Given the description of an element on the screen output the (x, y) to click on. 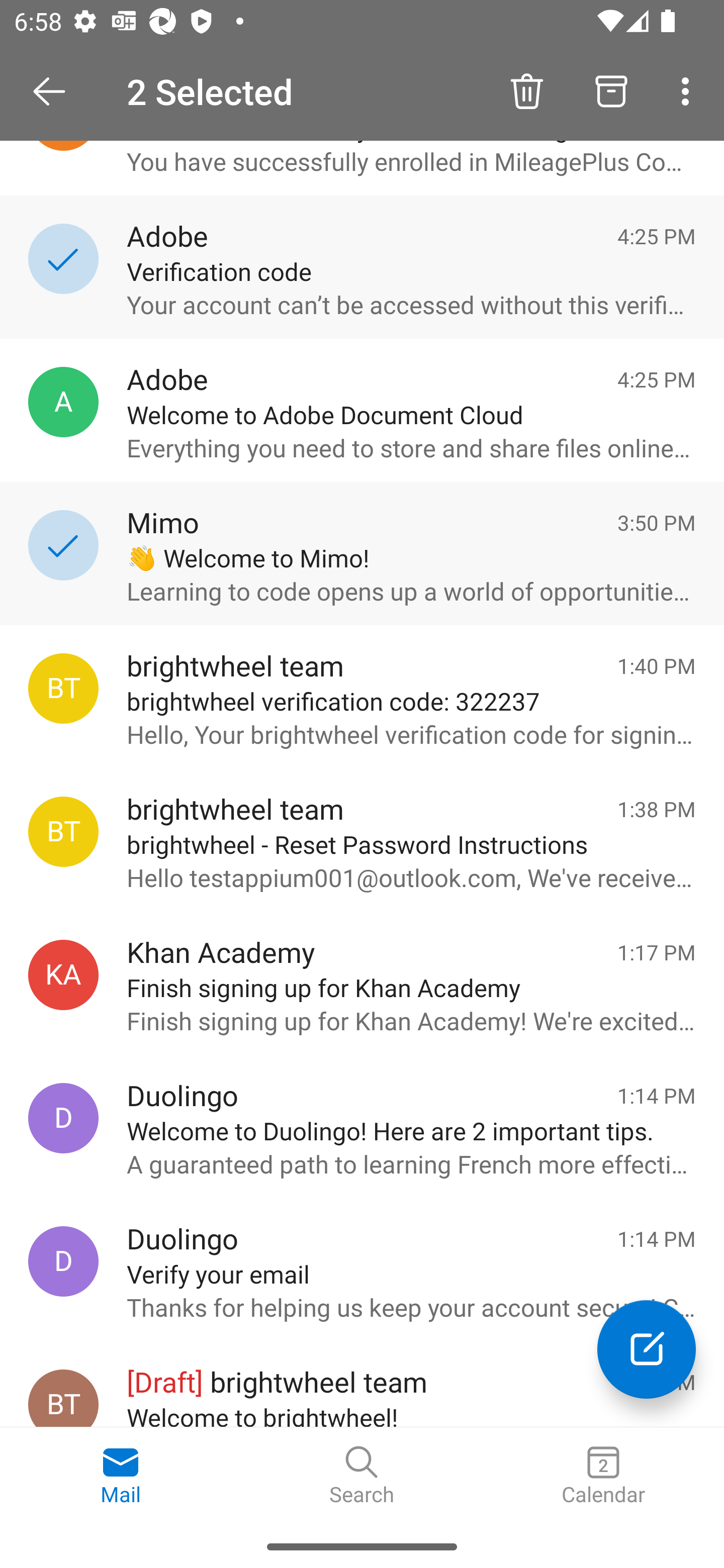
Delete (526, 90)
Archive (611, 90)
More options (688, 90)
Open Navigation Drawer (55, 91)
Adobe, message@adobe.com (63, 401)
brightwheel team, recovery@mybrightwheel.com (63, 688)
brightwheel team, recovery@mybrightwheel.com (63, 831)
Khan Academy, no-reply@khanacademy.org (63, 974)
Duolingo, hello@duolingo.com (63, 1118)
Duolingo, hello@duolingo.com (63, 1261)
Compose (646, 1348)
brightwheel team, welcome@mybrightwheel.com (63, 1397)
Search (361, 1475)
Calendar (603, 1475)
